Given the description of an element on the screen output the (x, y) to click on. 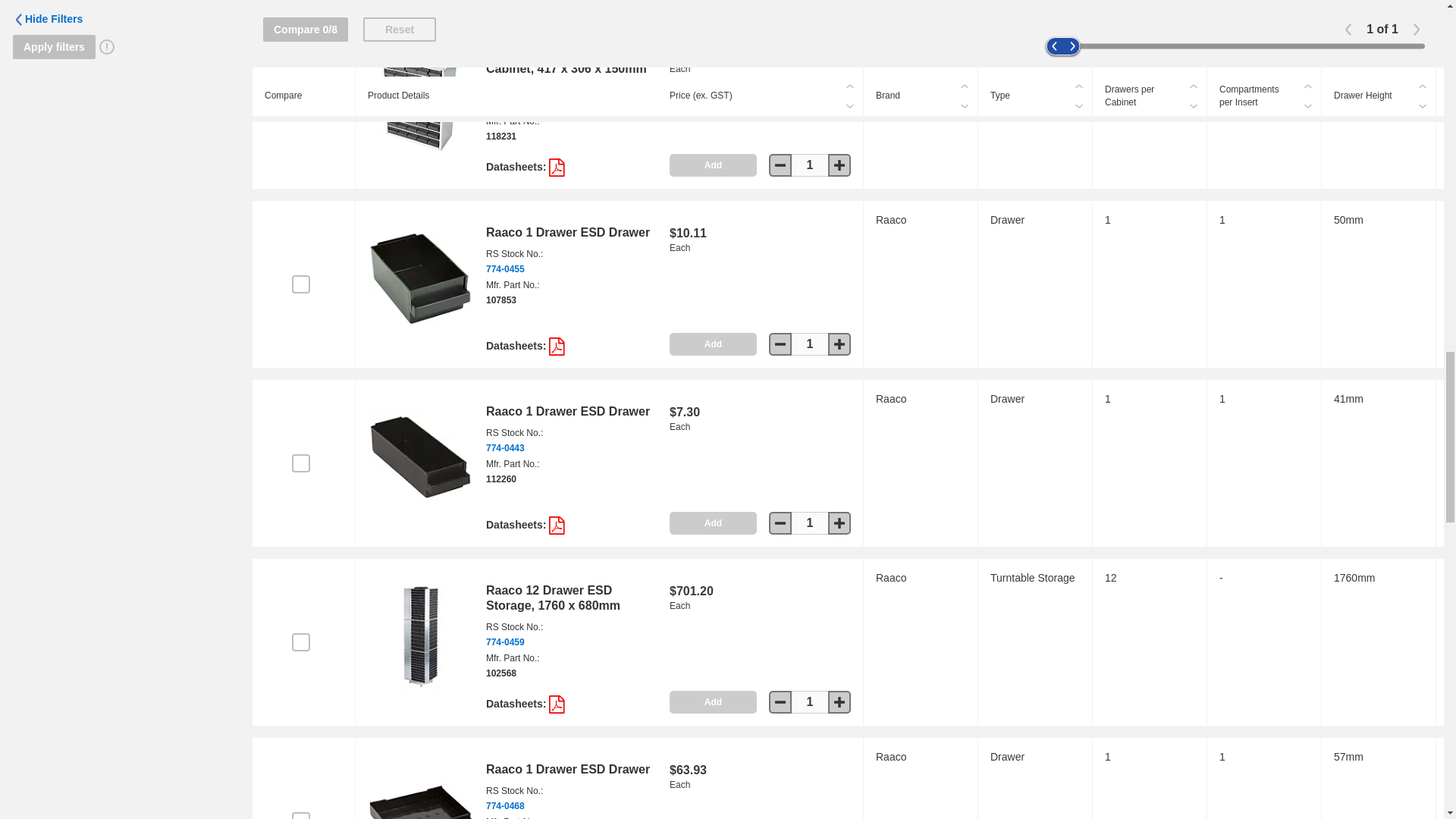
on (299, 105)
on (299, 463)
1 (810, 343)
1 (810, 164)
on (299, 284)
